Given the description of an element on the screen output the (x, y) to click on. 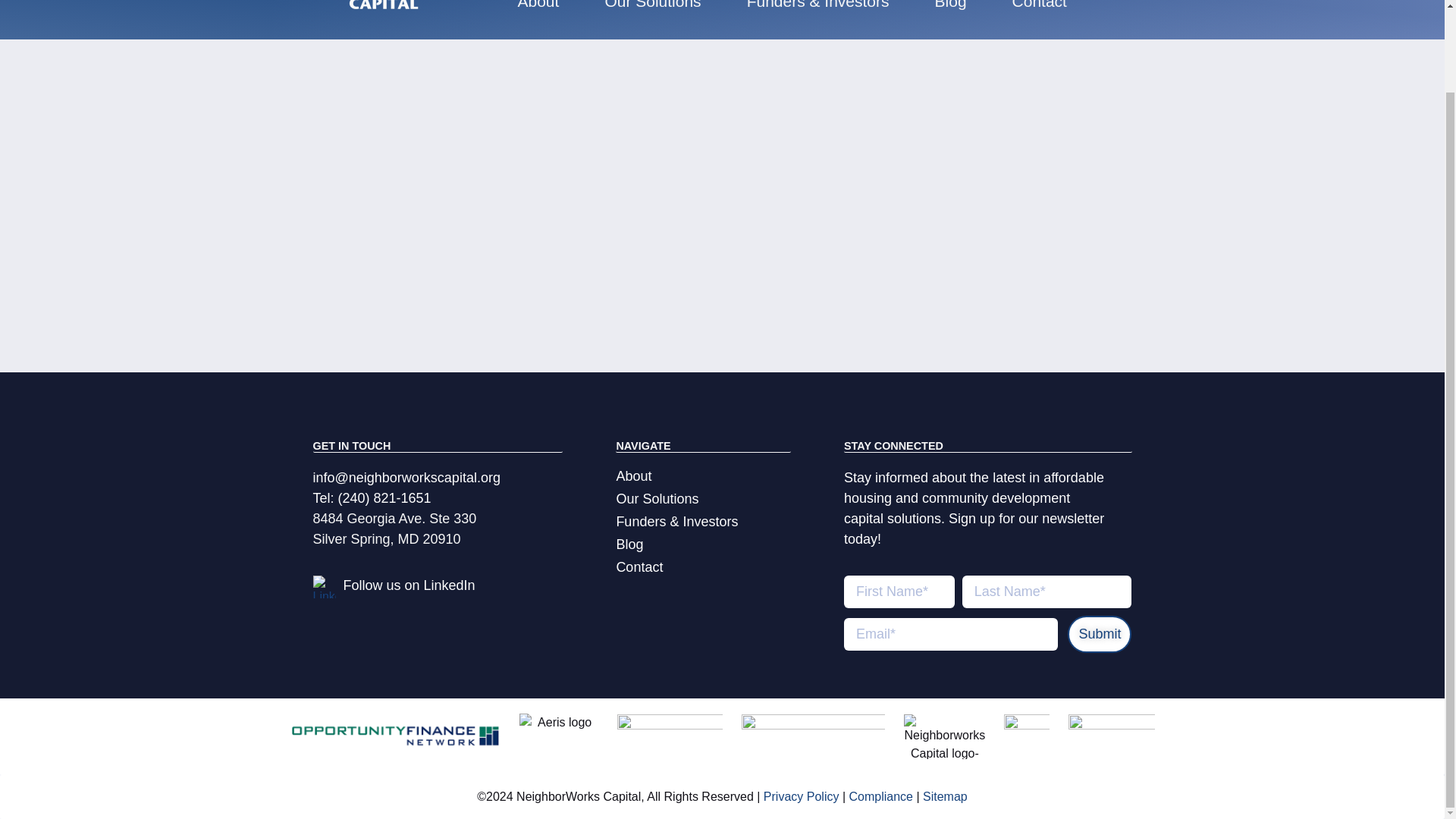
About (537, 8)
Contact (702, 567)
Blog (702, 544)
About (702, 476)
Our Solutions (702, 498)
Blog (951, 8)
Contact (1039, 8)
Submit (1099, 633)
Follow us on LinkedIn (408, 585)
Our Solutions (651, 8)
